Given the description of an element on the screen output the (x, y) to click on. 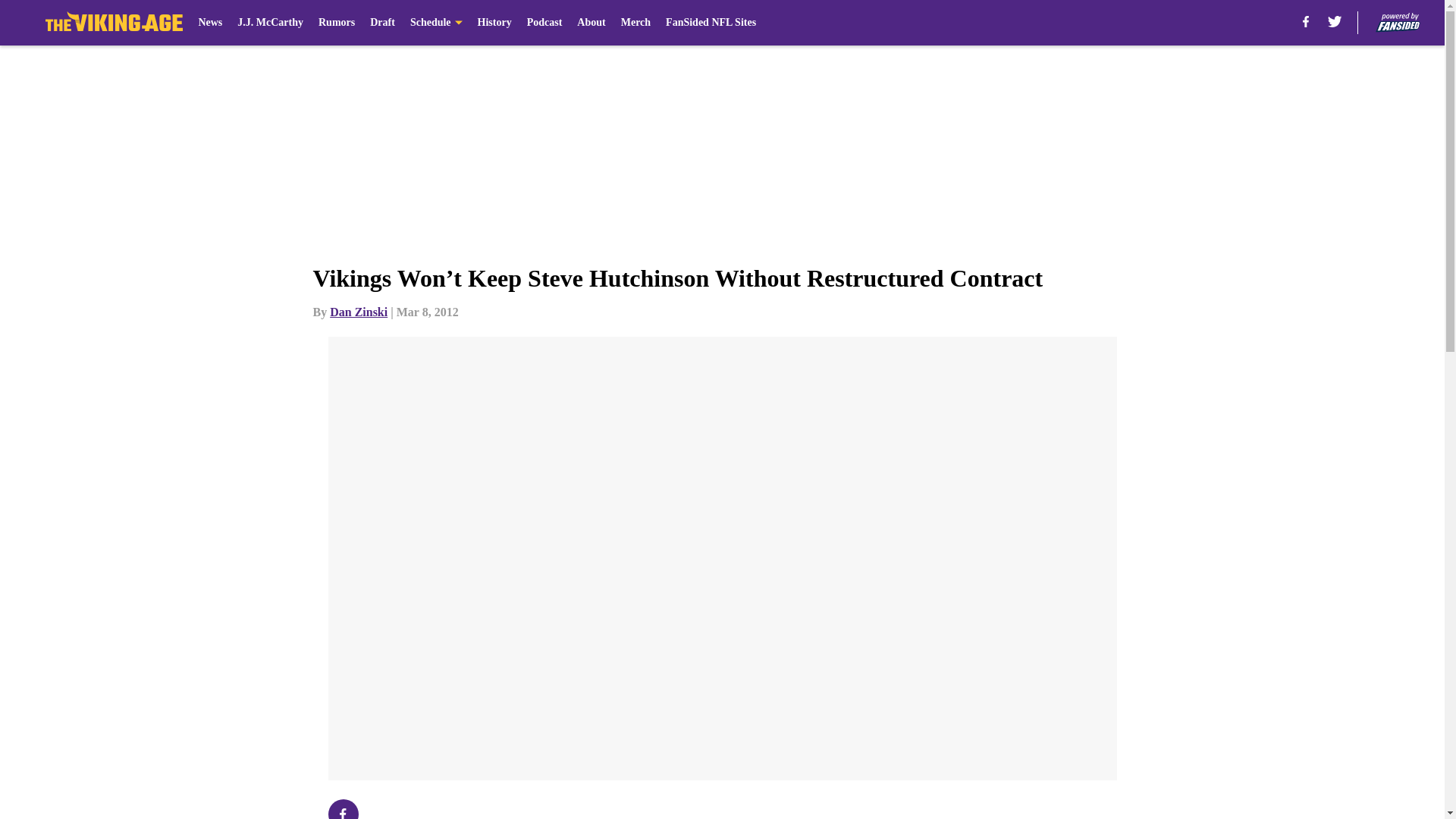
News (210, 22)
Dan Zinski (358, 311)
Rumors (336, 22)
Draft (381, 22)
Podcast (544, 22)
FanSided NFL Sites (710, 22)
History (494, 22)
J.J. McCarthy (269, 22)
Merch (635, 22)
About (590, 22)
